Given the description of an element on the screen output the (x, y) to click on. 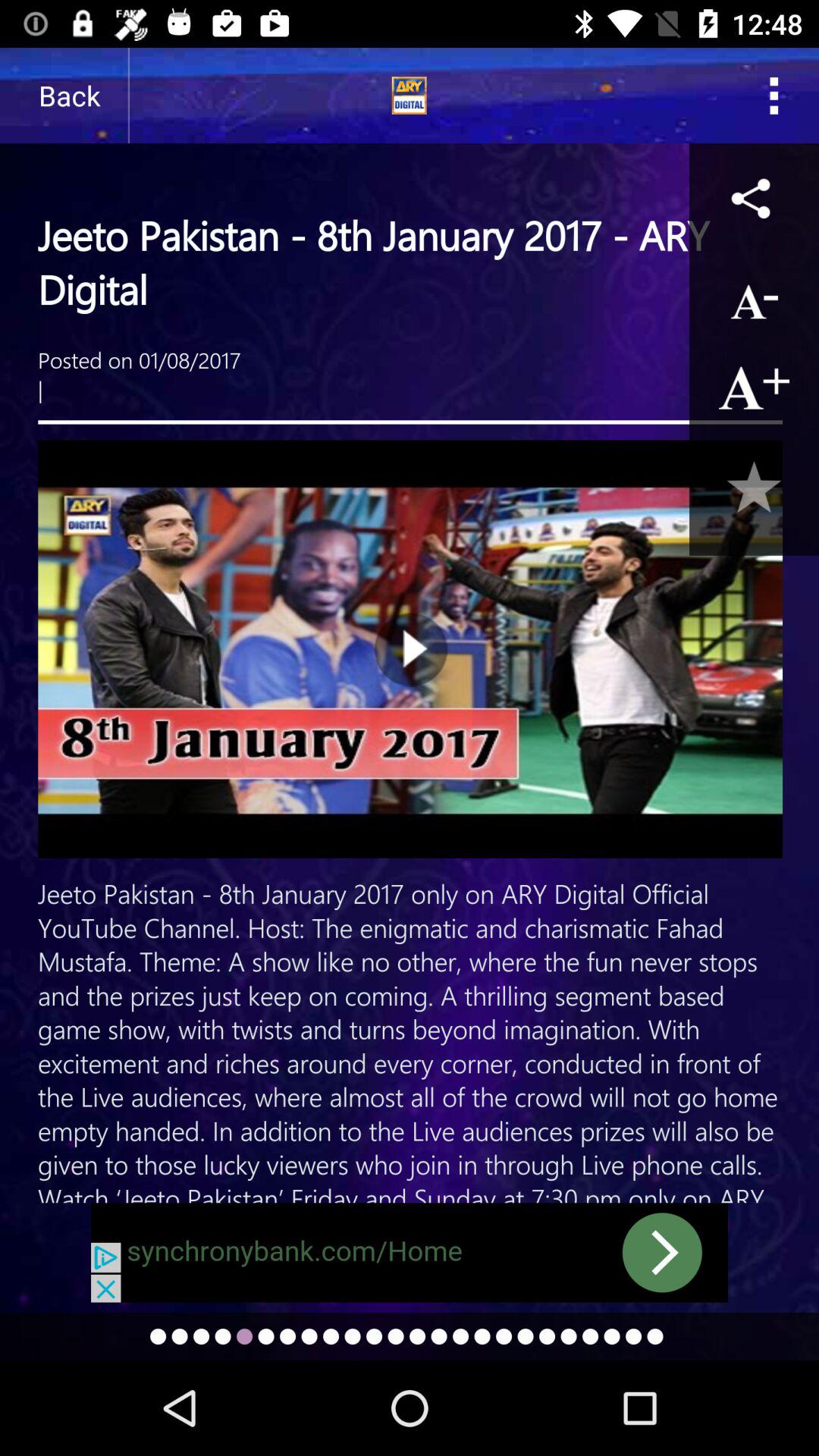
reduce font size (754, 297)
